Given the description of an element on the screen output the (x, y) to click on. 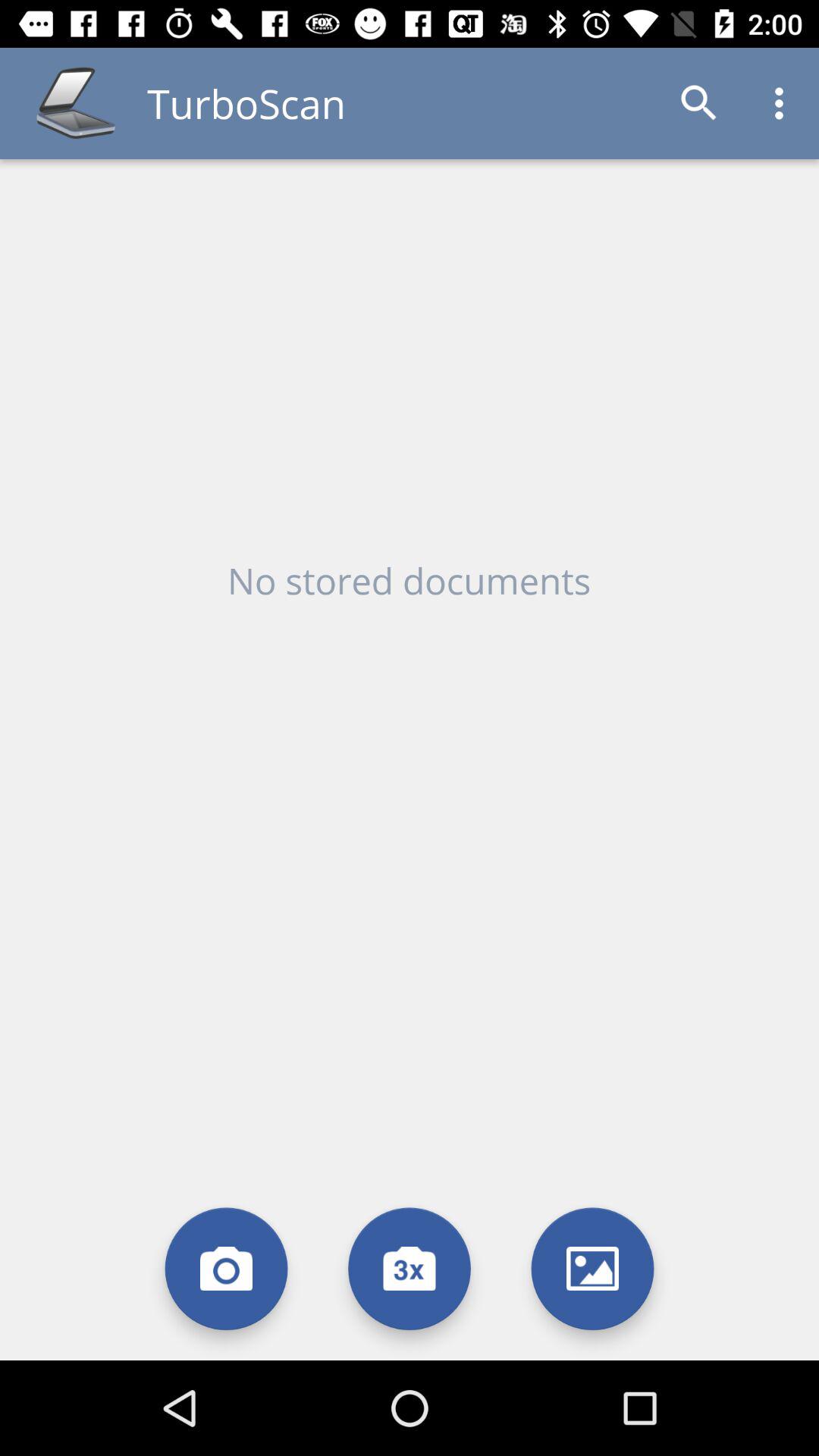
launch icon at the bottom right corner (592, 1268)
